Given the description of an element on the screen output the (x, y) to click on. 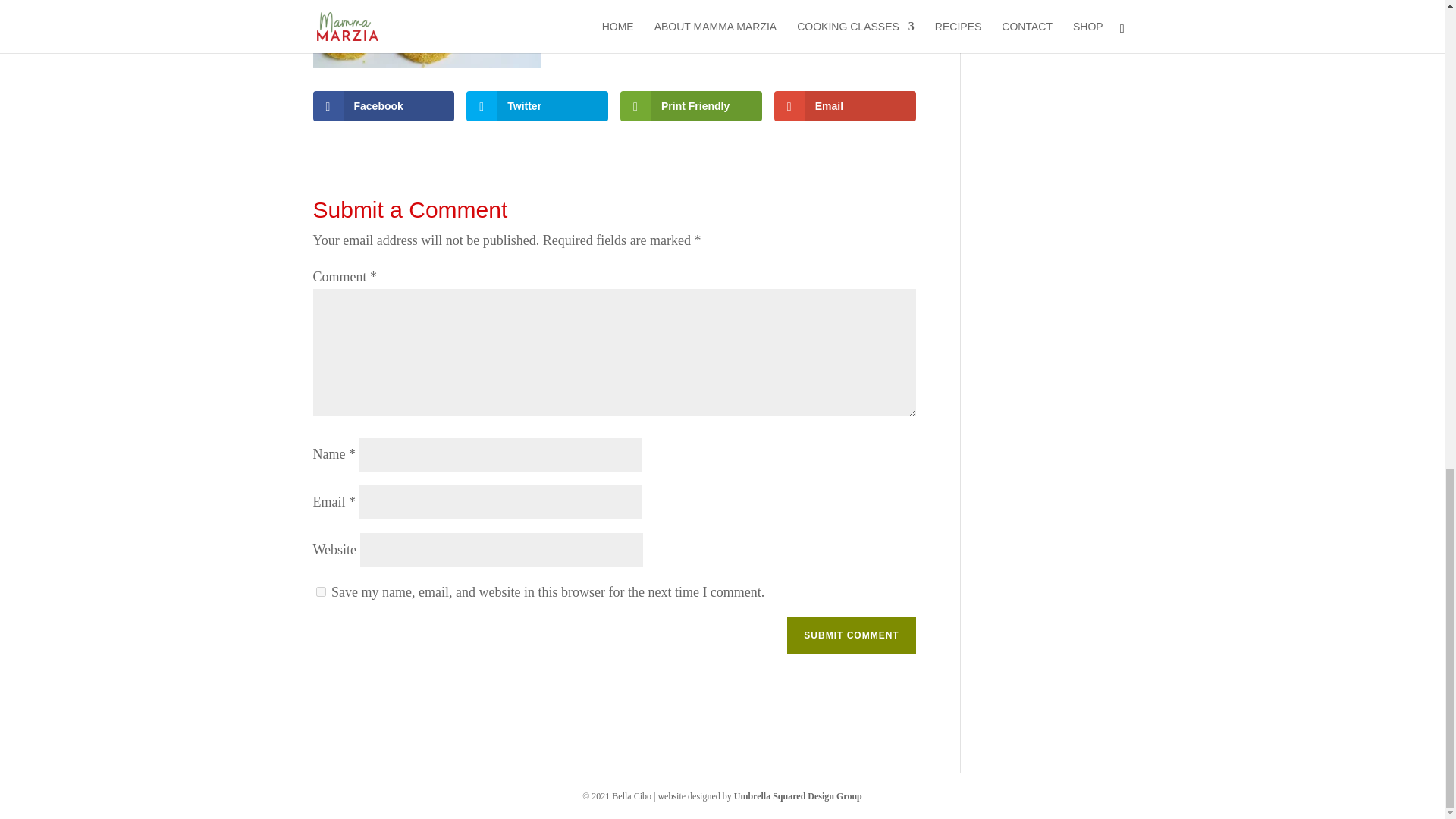
Facebook (383, 105)
Print Friendly (690, 105)
Twitter (536, 105)
Submit Comment (851, 635)
Umbrella Squared Design Group (797, 796)
Email (844, 105)
yes (319, 592)
Submit Comment (851, 635)
